Given the description of an element on the screen output the (x, y) to click on. 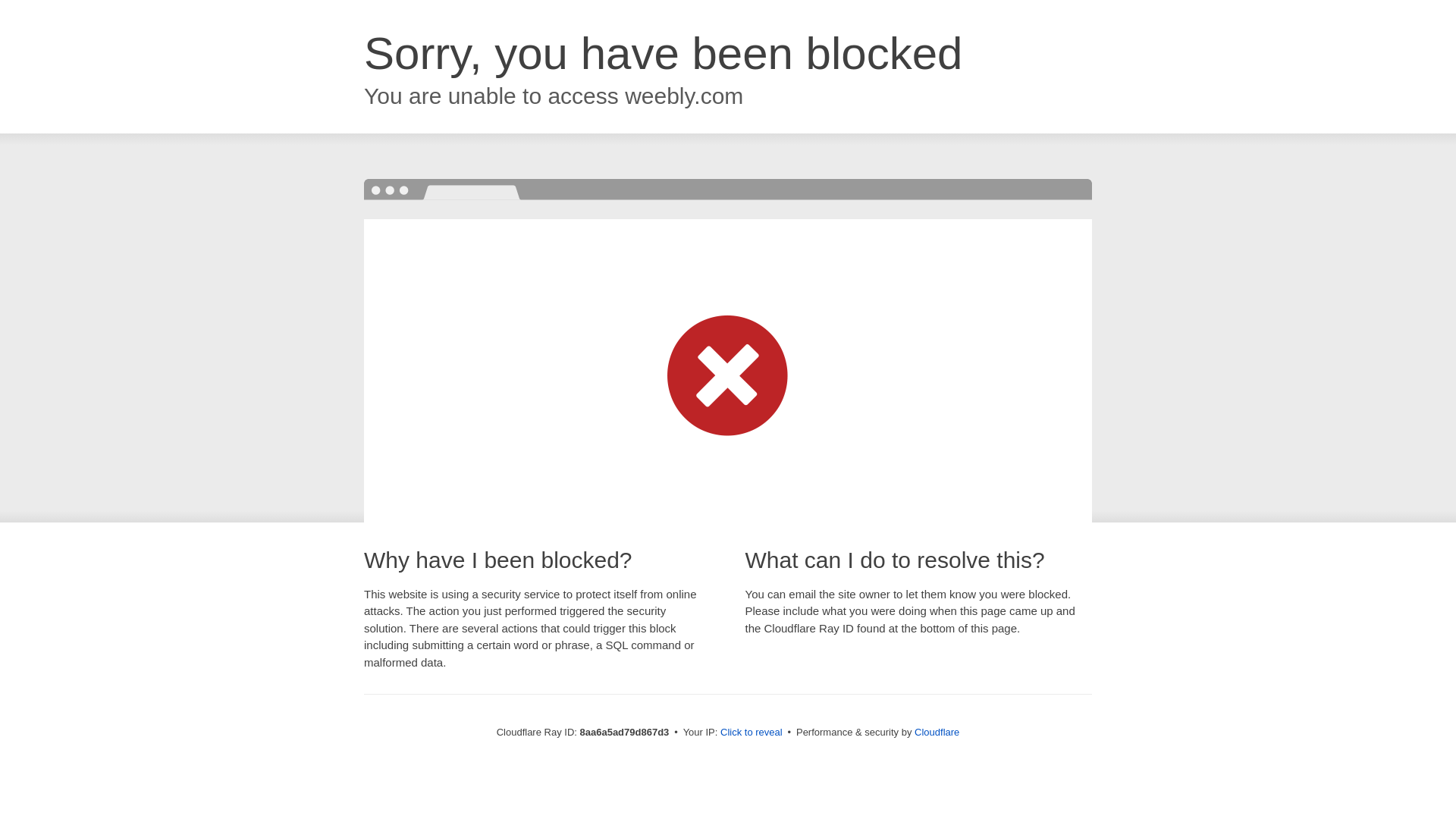
Cloudflare (936, 731)
Click to reveal (751, 732)
